Given the description of an element on the screen output the (x, y) to click on. 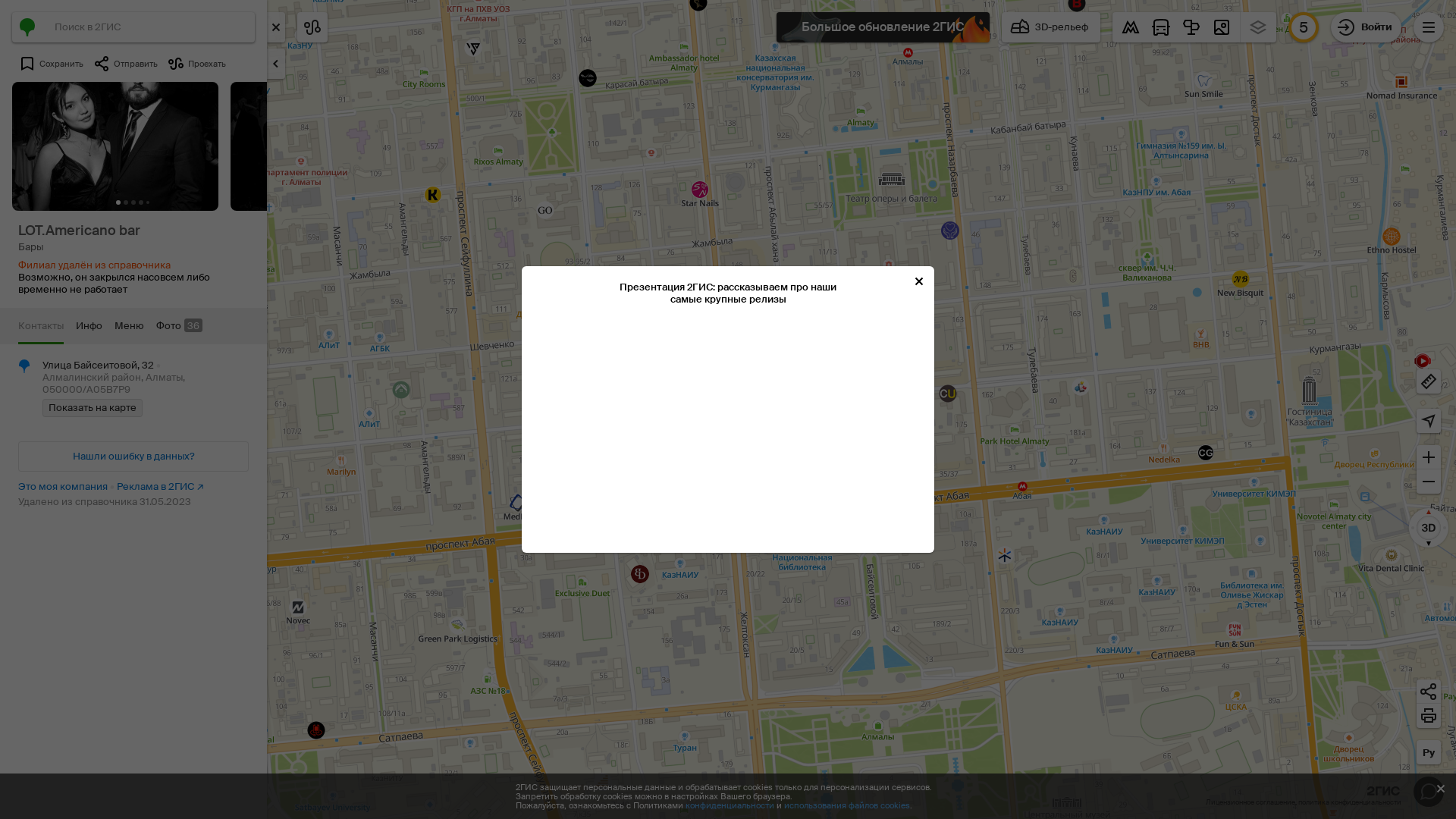
5 Element type: text (1303, 27)
